Given the description of an element on the screen output the (x, y) to click on. 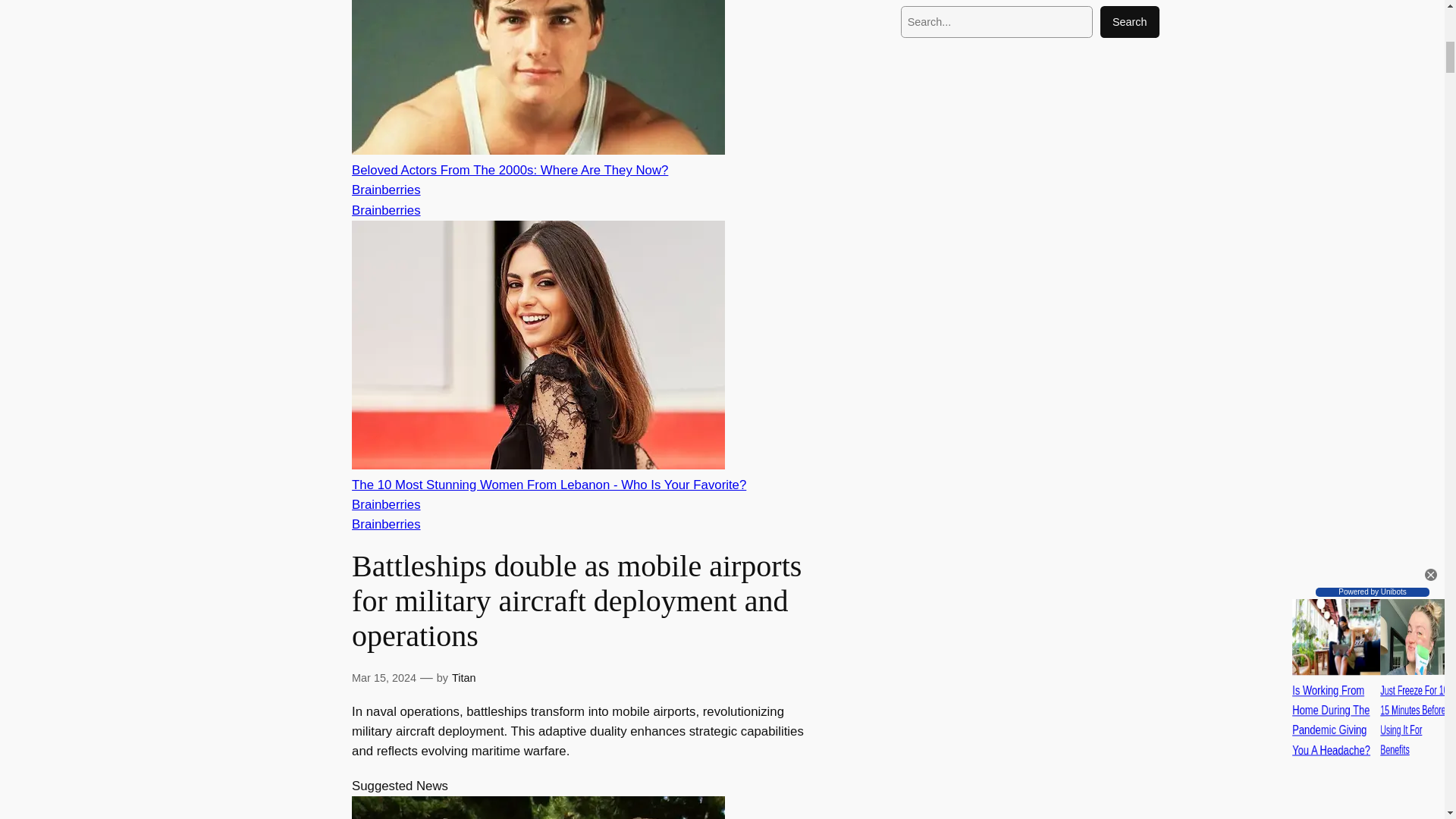
Search (1129, 21)
Titan (463, 677)
Mar 15, 2024 (384, 677)
